Given the description of an element on the screen output the (x, y) to click on. 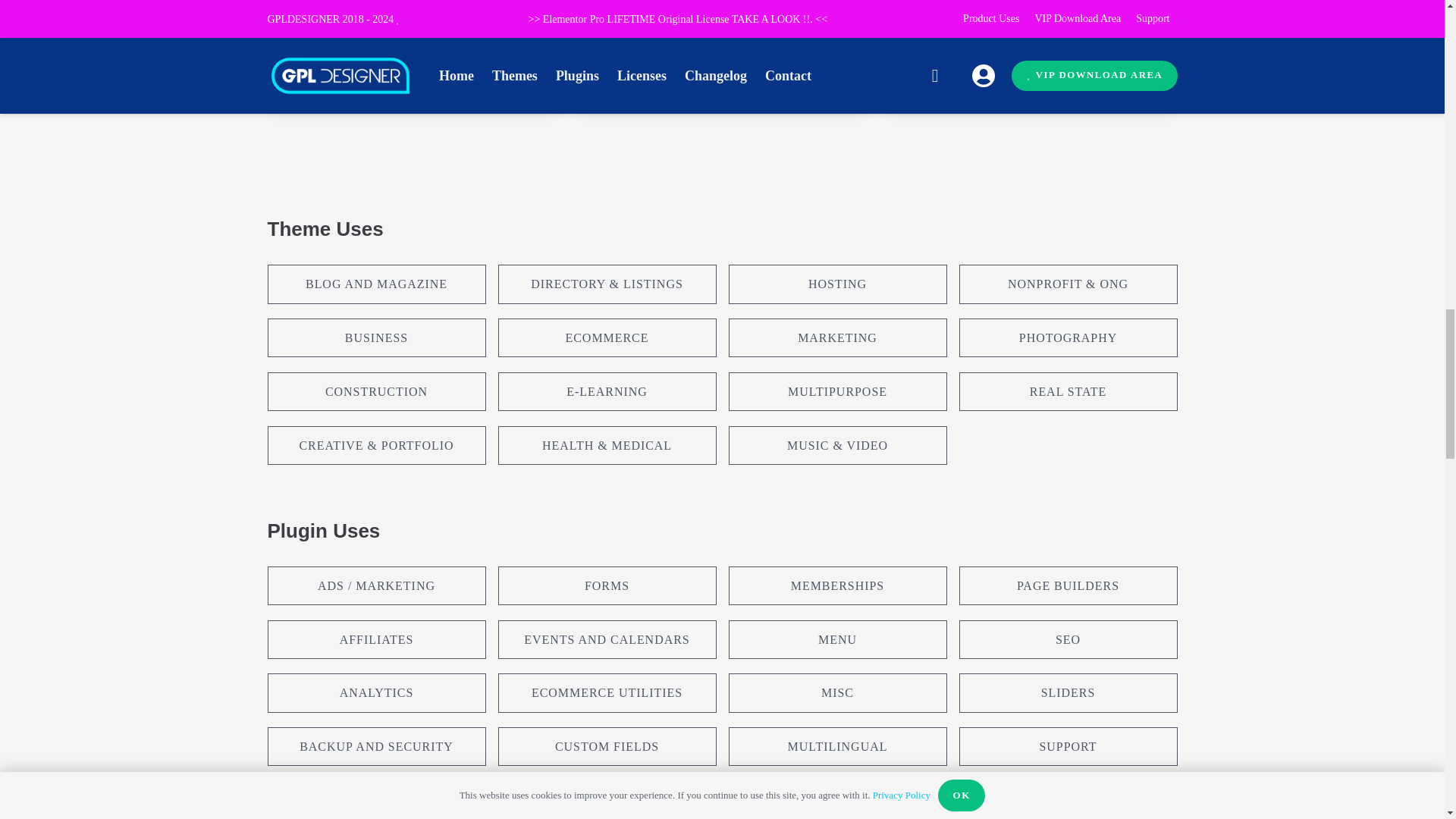
Plugins (377, 52)
eCommerce Utilities (641, 77)
Checkout for WooCommerce Plugin 9.1.4 (405, 18)
Plugins (685, 52)
Others (429, 52)
eCommerce Utilities (333, 77)
Elementor (745, 52)
